Given the description of an element on the screen output the (x, y) to click on. 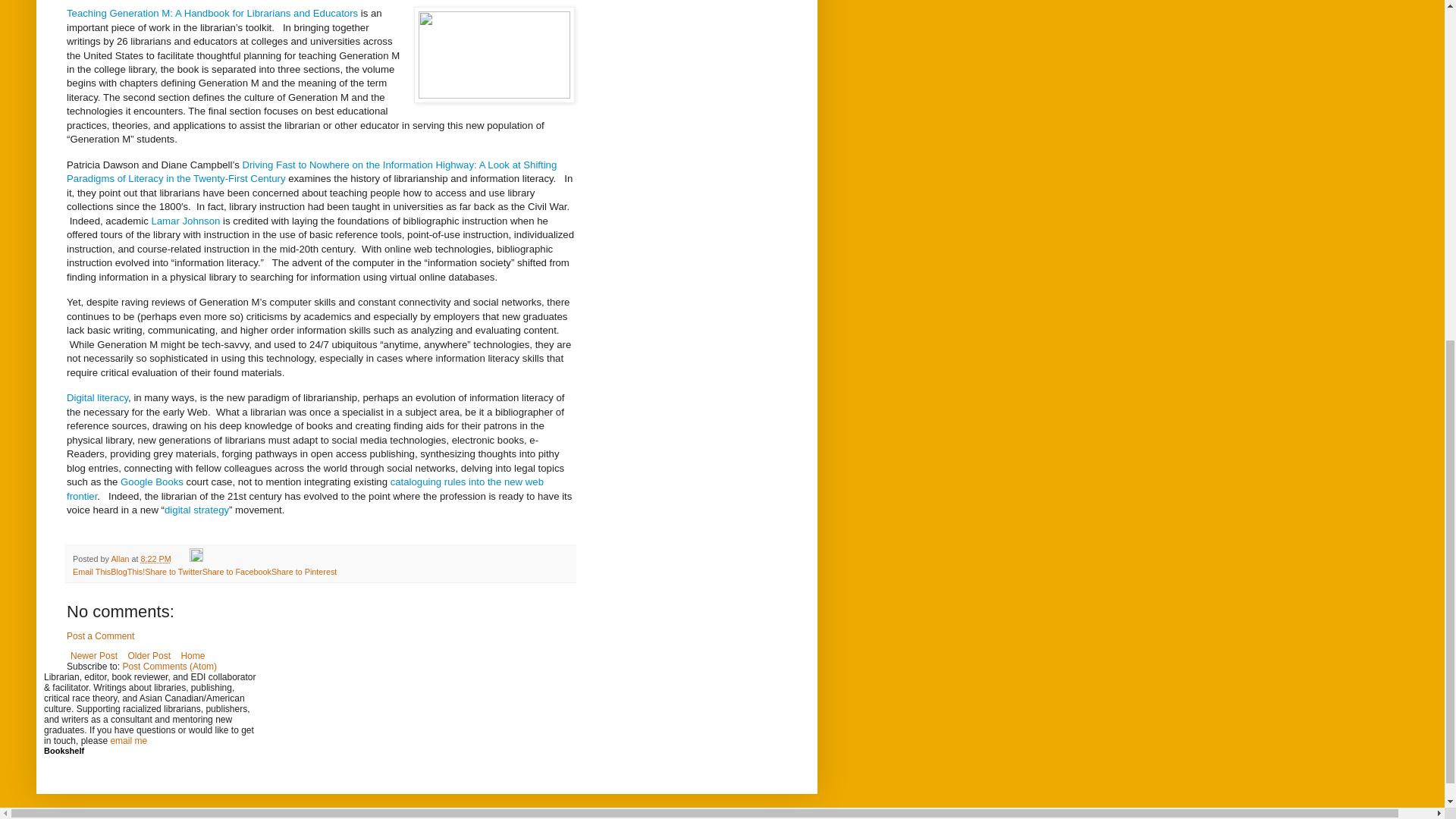
Newer Post (93, 656)
Home (192, 656)
author profile (120, 558)
 Lamar Johnson (184, 220)
Share to Twitter (173, 571)
Share to Twitter (173, 571)
Older Post (148, 656)
Post a Comment (99, 635)
Digital literacy (97, 397)
Share to Facebook (236, 571)
